Given the description of an element on the screen output the (x, y) to click on. 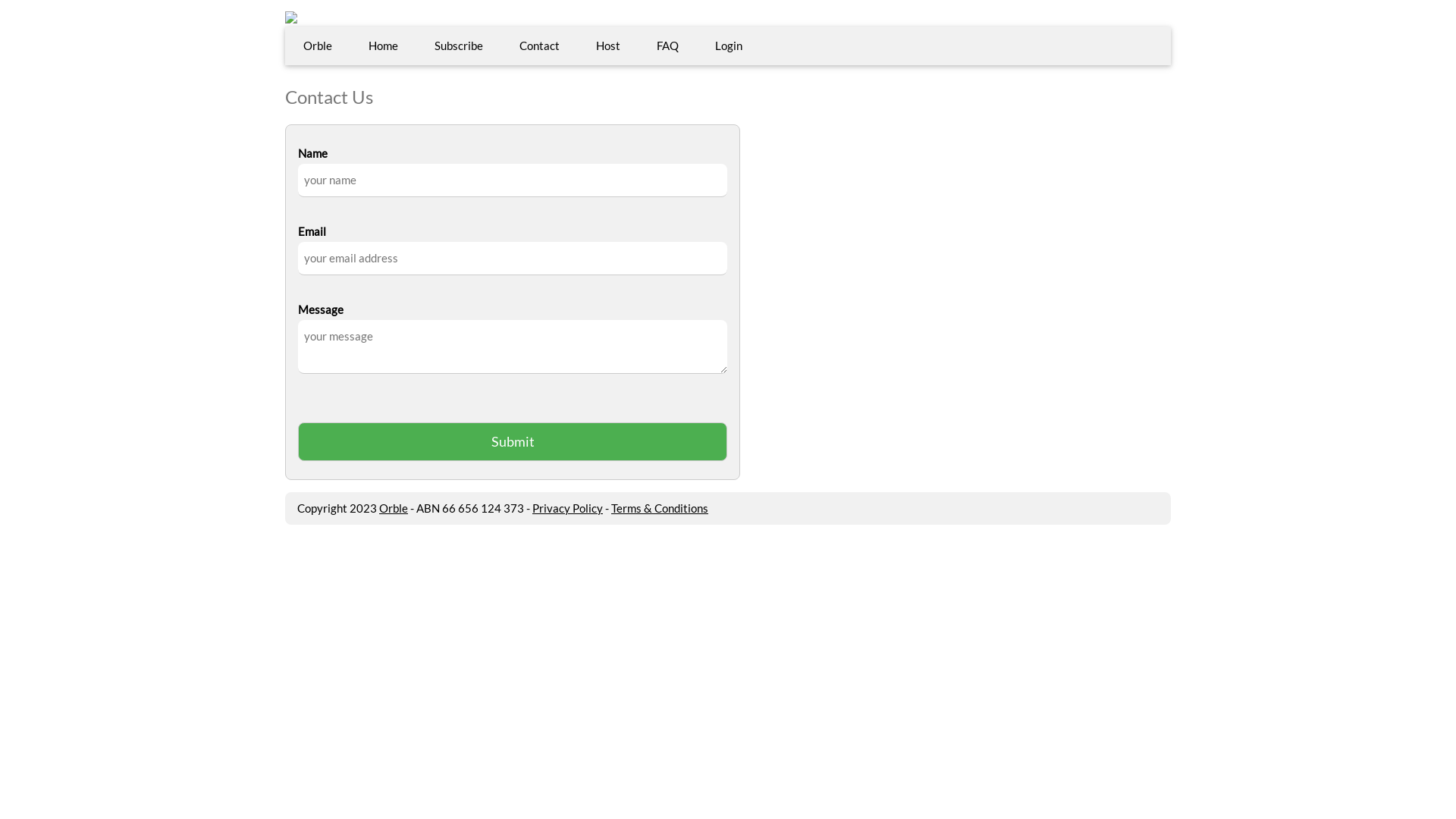
Home Element type: text (383, 45)
Orble Element type: text (317, 45)
Subscribe Element type: text (458, 45)
Orble Element type: text (393, 507)
Host Element type: text (607, 45)
Contact Element type: text (539, 45)
FAQ Element type: text (667, 45)
Submit Element type: text (512, 441)
Terms & Conditions Element type: text (659, 507)
Login Element type: text (728, 45)
Privacy Policy Element type: text (567, 507)
